Given the description of an element on the screen output the (x, y) to click on. 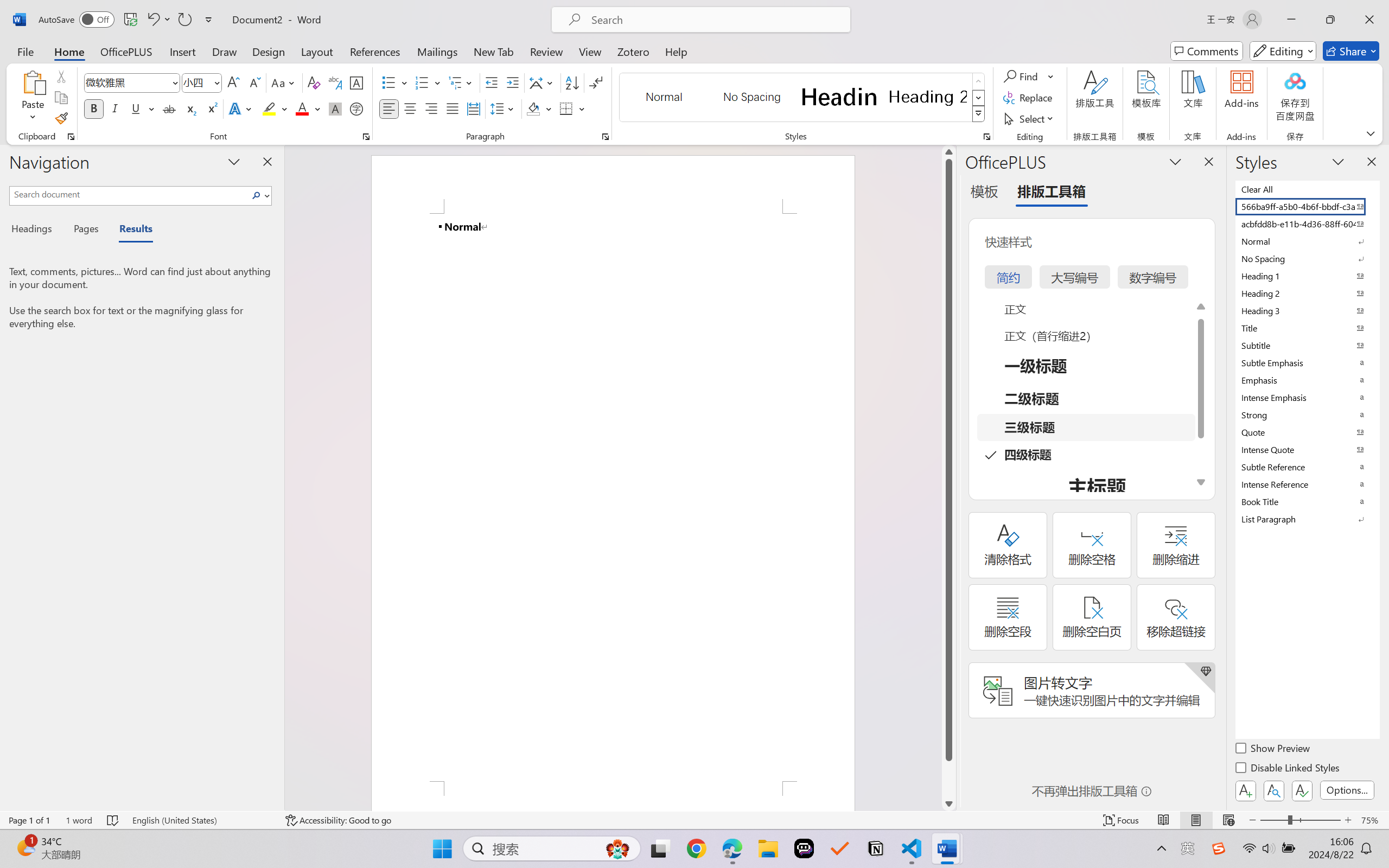
Zoom Out (1273, 819)
Heading 2 (927, 96)
Font (132, 82)
Mailings (437, 51)
Quote (1306, 431)
Sort... (571, 82)
Bold (94, 108)
Options... (1346, 789)
Change Case (284, 82)
Superscript (210, 108)
